Given the description of an element on the screen output the (x, y) to click on. 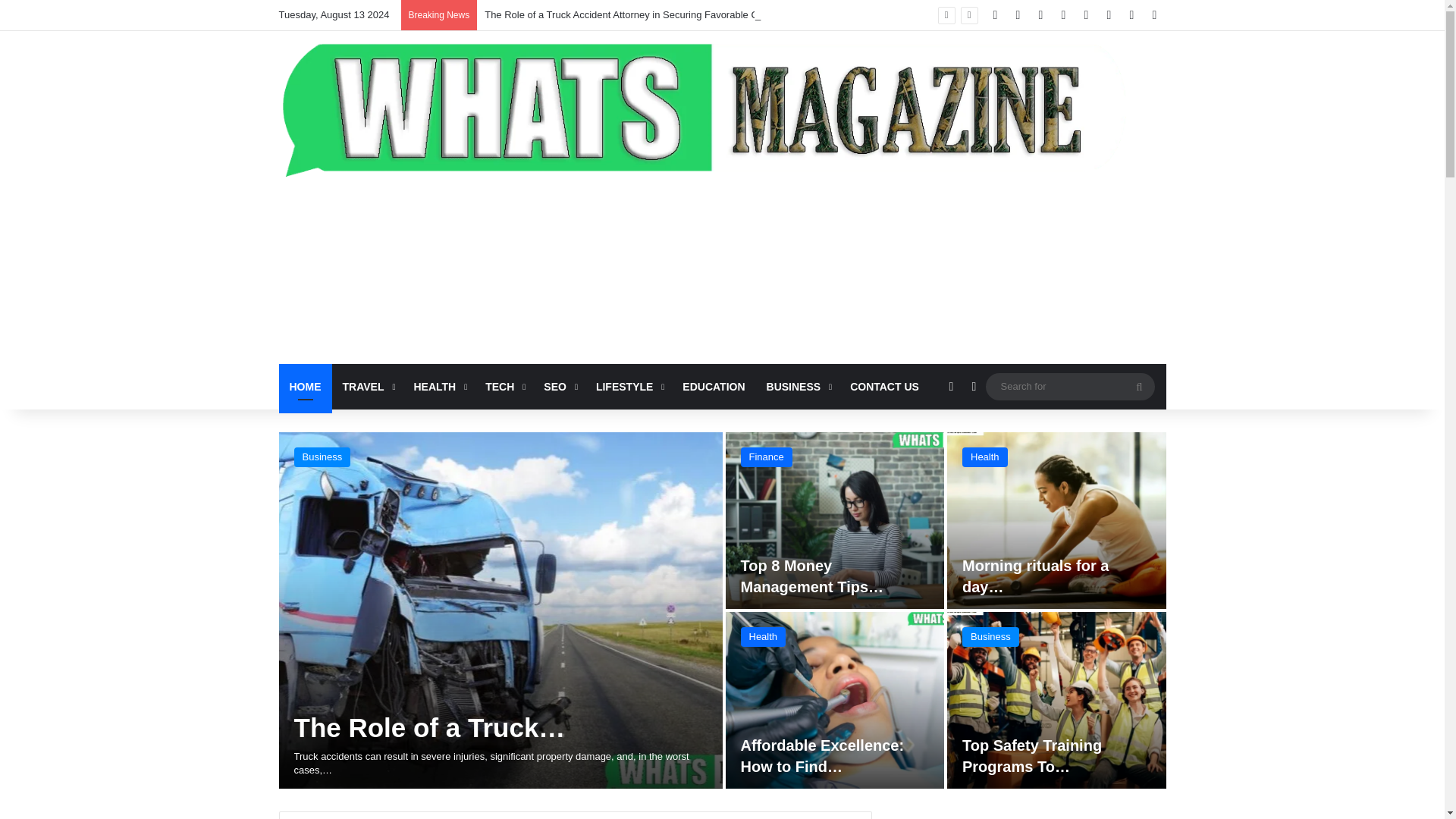
Search for (1139, 386)
TRAVEL (367, 386)
SEO (558, 386)
Whatsmagazine (722, 106)
TECH (503, 386)
Search for (1069, 385)
HEALTH (438, 386)
EDUCATION (713, 386)
HOME (305, 386)
